Given the description of an element on the screen output the (x, y) to click on. 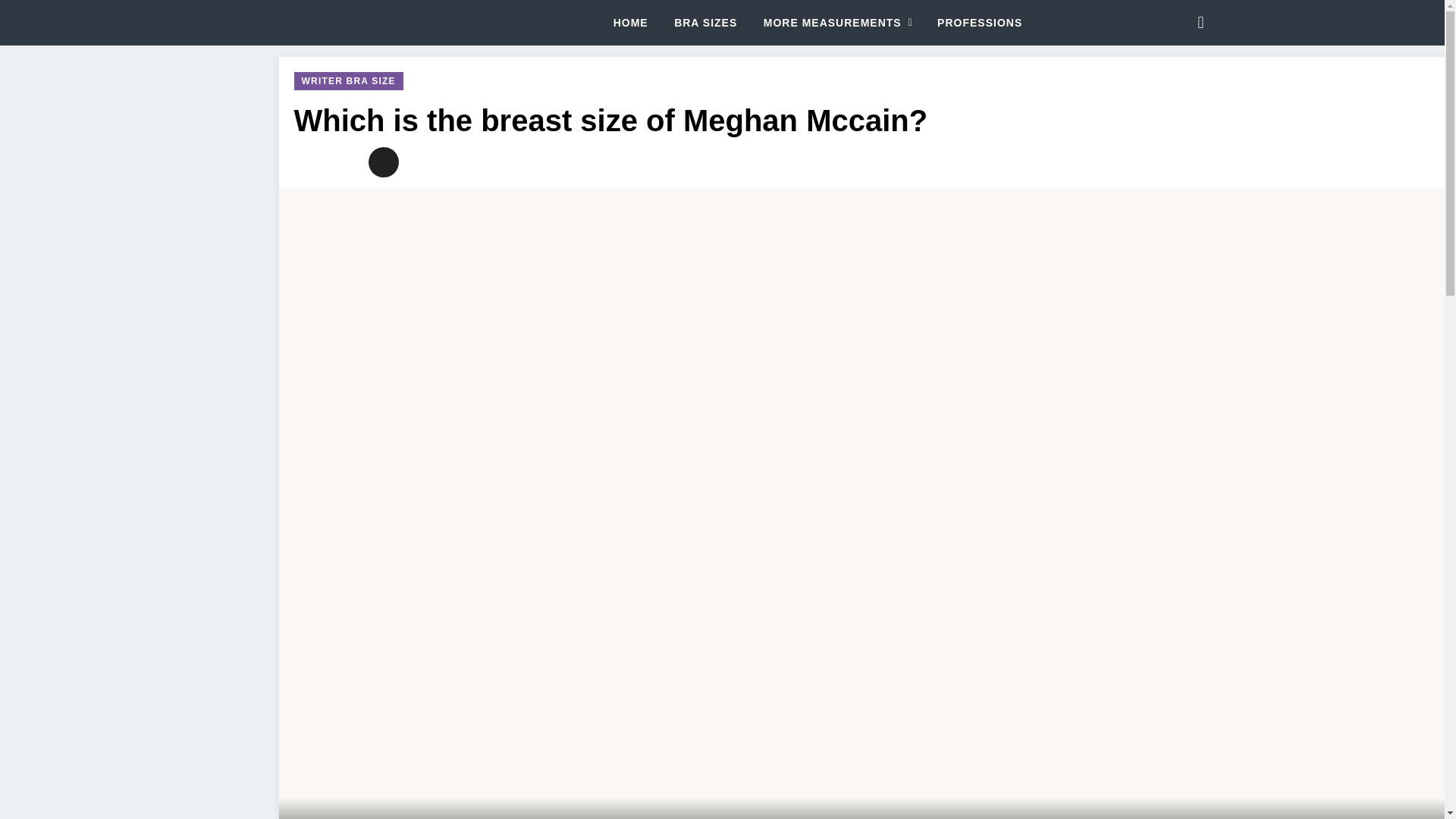
BRA SIZES (705, 22)
MORE MEASUREMENTS (837, 22)
Share on Pinterest (346, 162)
Search (1200, 22)
WRITER BRA SIZE (348, 81)
PROFESSIONS (979, 22)
HOME (629, 22)
Share via Email (383, 162)
Share on Twitter (309, 162)
